Given the description of an element on the screen output the (x, y) to click on. 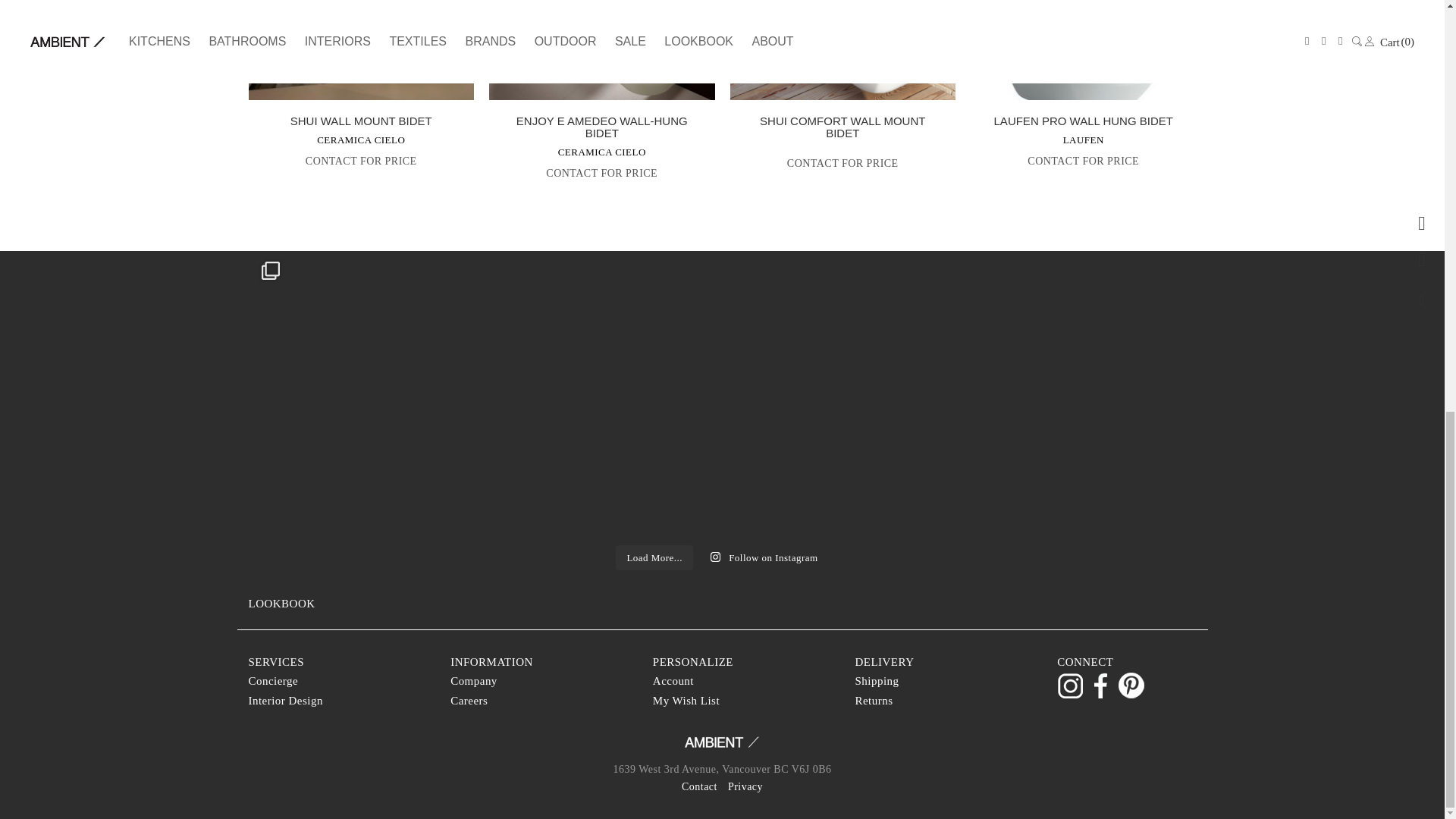
50313-8637392 (361, 49)
Ambient Showroom (722, 746)
laufen-8309521 (1083, 49)
Screen Shot 2020-07-22 at 3.26.23 PM (842, 49)
Screen-Shot-2020-07-30-at-1.57.19-PM (601, 49)
